Given the description of an element on the screen output the (x, y) to click on. 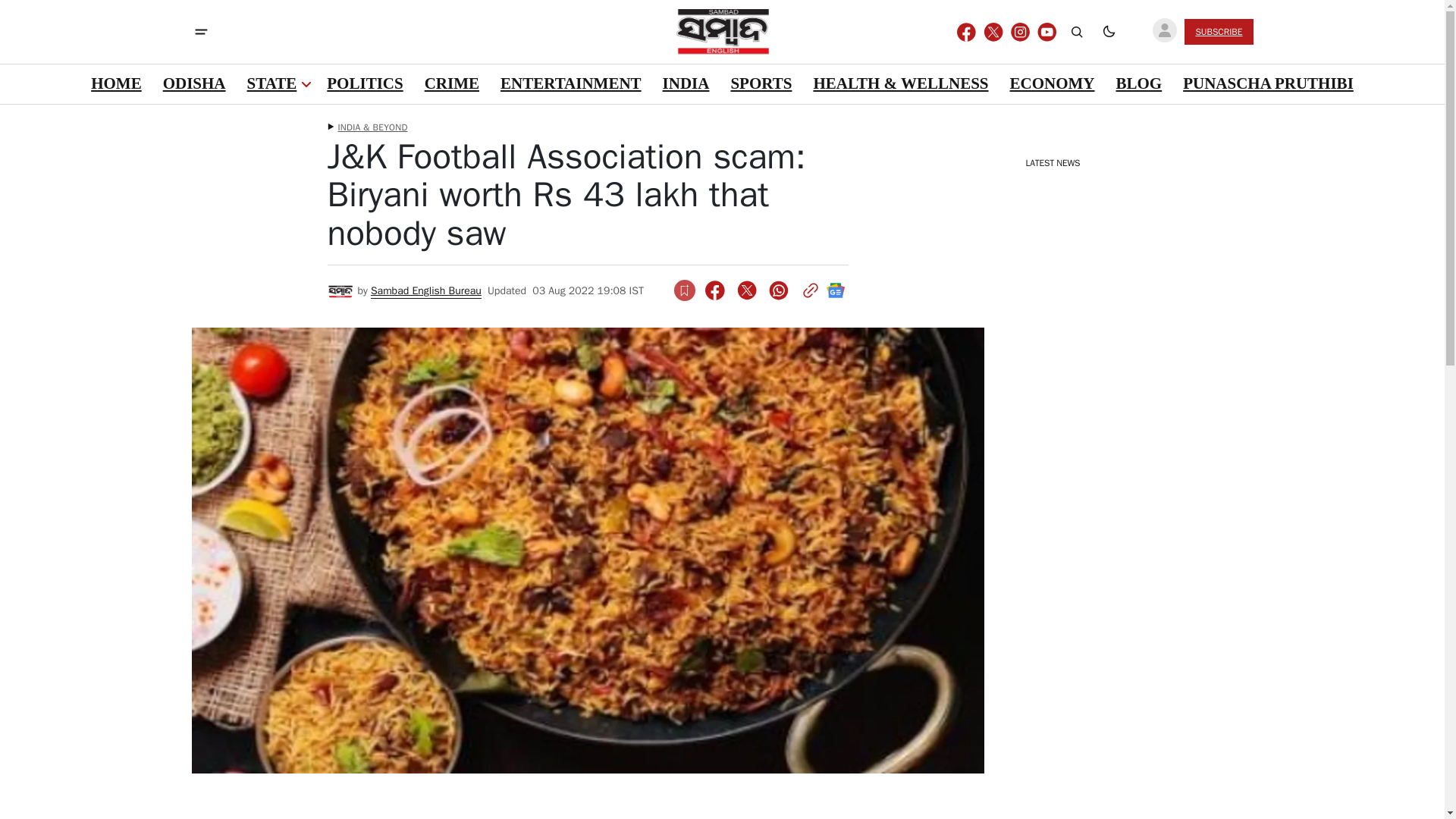
PUNASCHA PRUTHIBI (1267, 84)
ECONOMY (1051, 84)
Search button (1076, 31)
ENTERTAINMENT (570, 84)
HOME (116, 84)
SPORTS (760, 84)
SUBSCRIBE (1218, 31)
INDIA (686, 84)
CRIME (451, 84)
POLITICS (364, 84)
